Given the description of an element on the screen output the (x, y) to click on. 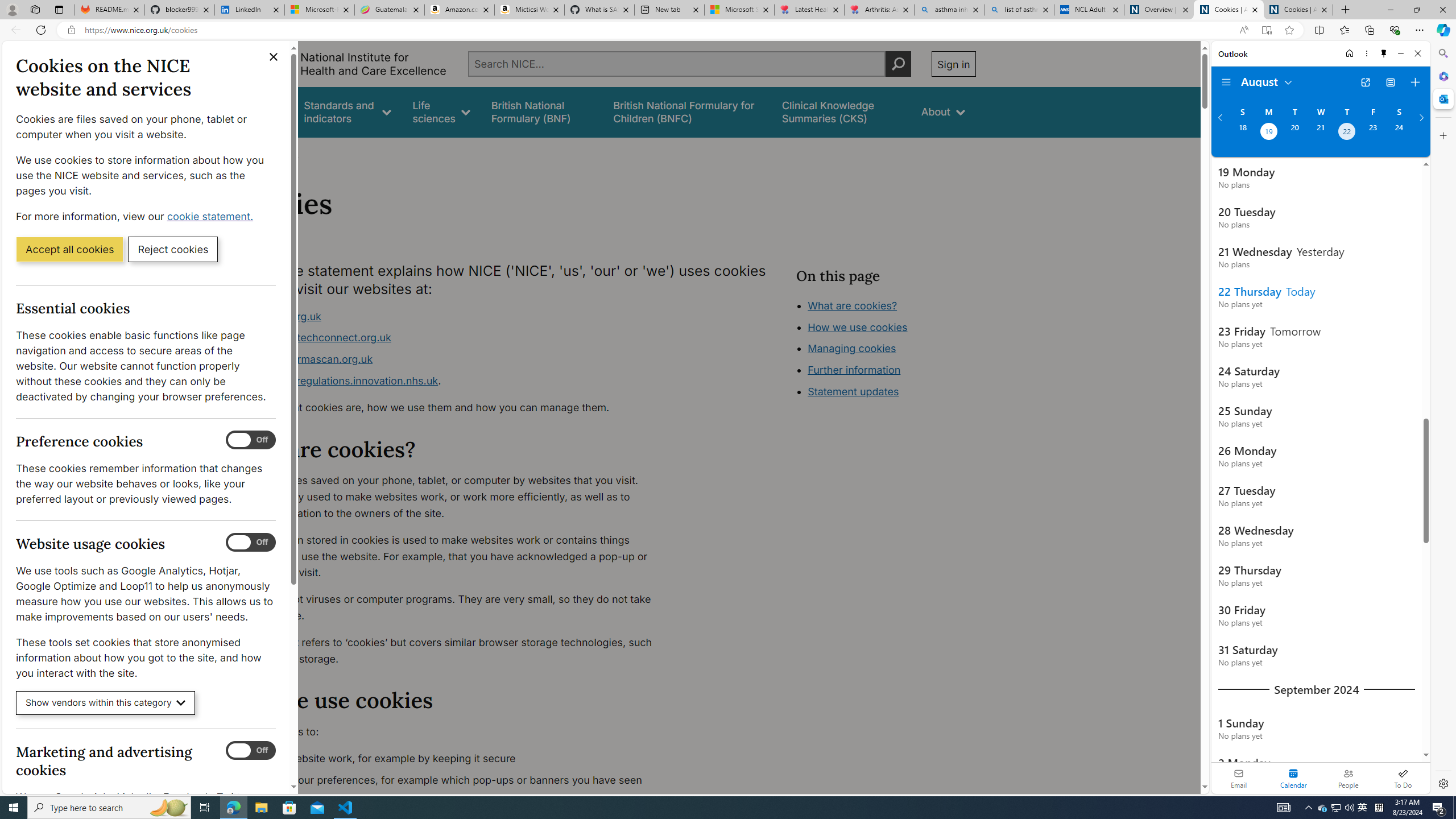
www.healthtechconnect.org.uk (452, 338)
Create event (1414, 82)
Microsoft-Report a Concern to Bing (319, 9)
Further information (854, 369)
Home> (246, 152)
Folder navigation (1225, 82)
How we use cookies (857, 327)
www.digitalregulations.innovation.nhs.uk. (452, 380)
www.nice.org.uk (279, 315)
false (841, 111)
Cookies | About | NICE (1297, 9)
More options (1366, 53)
